Given the description of an element on the screen output the (x, y) to click on. 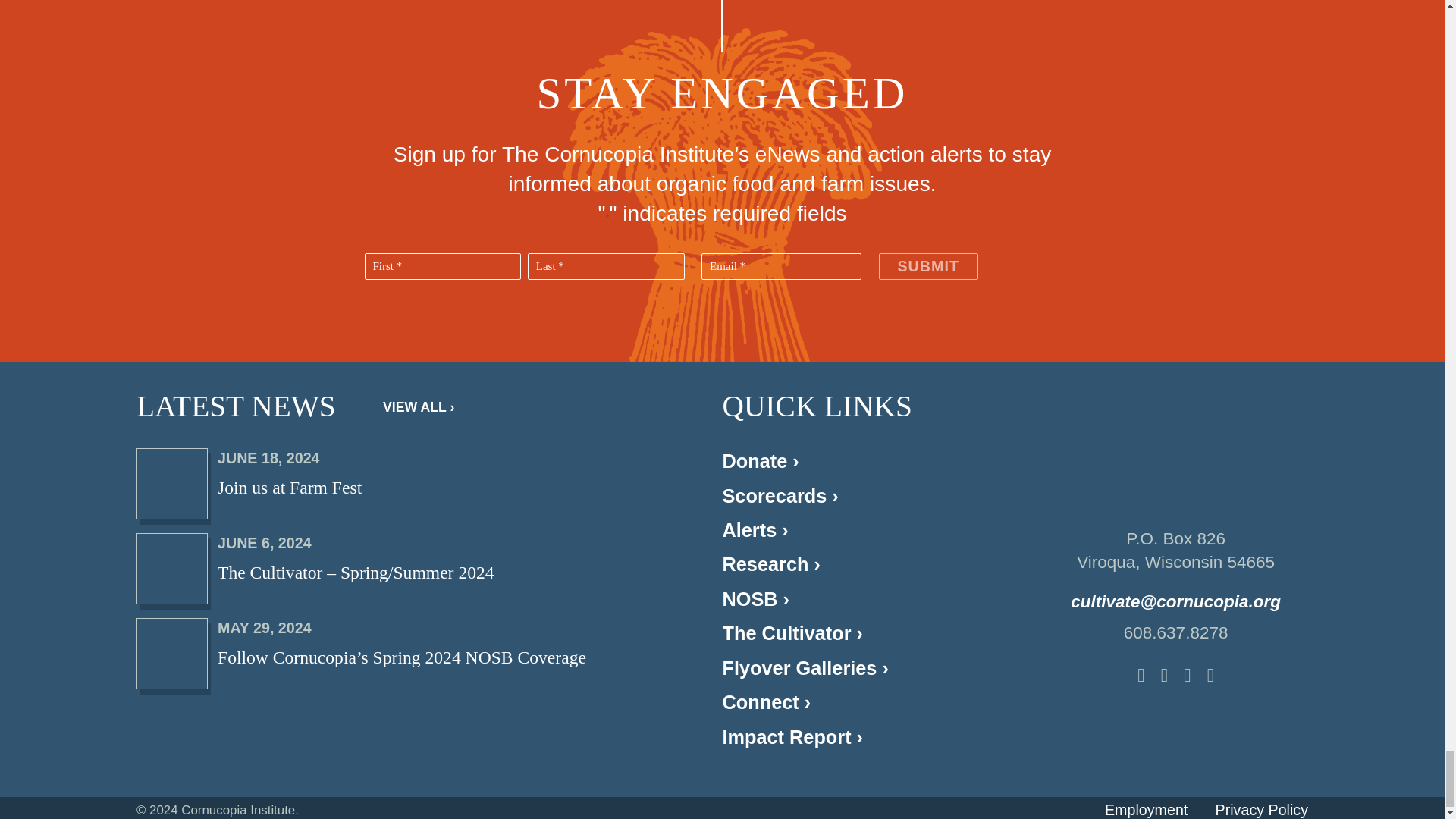
Submit (926, 266)
Cornucopia Institute (1175, 449)
